Given the description of an element on the screen output the (x, y) to click on. 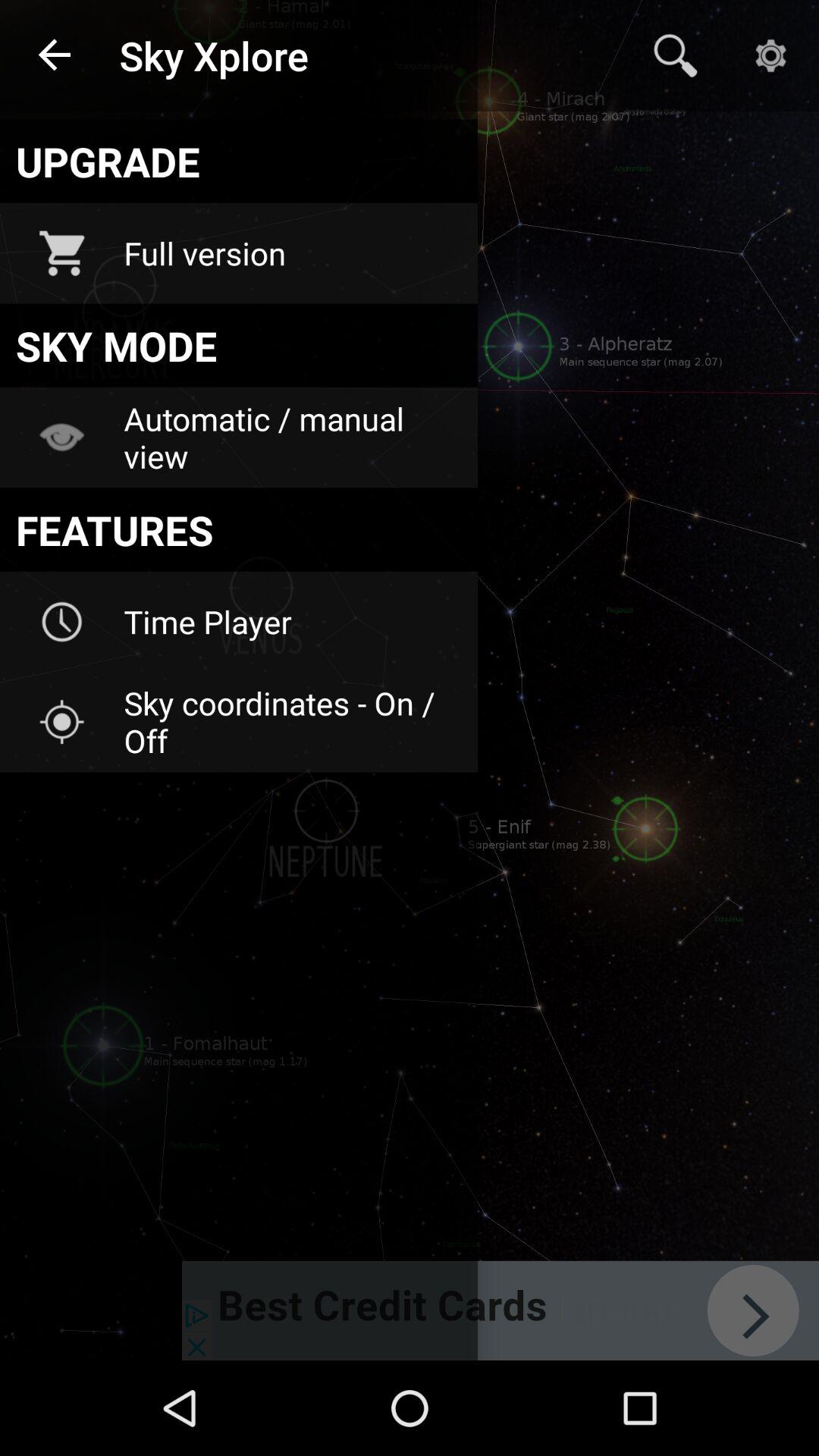
select full version icon (290, 253)
